Given the description of an element on the screen output the (x, y) to click on. 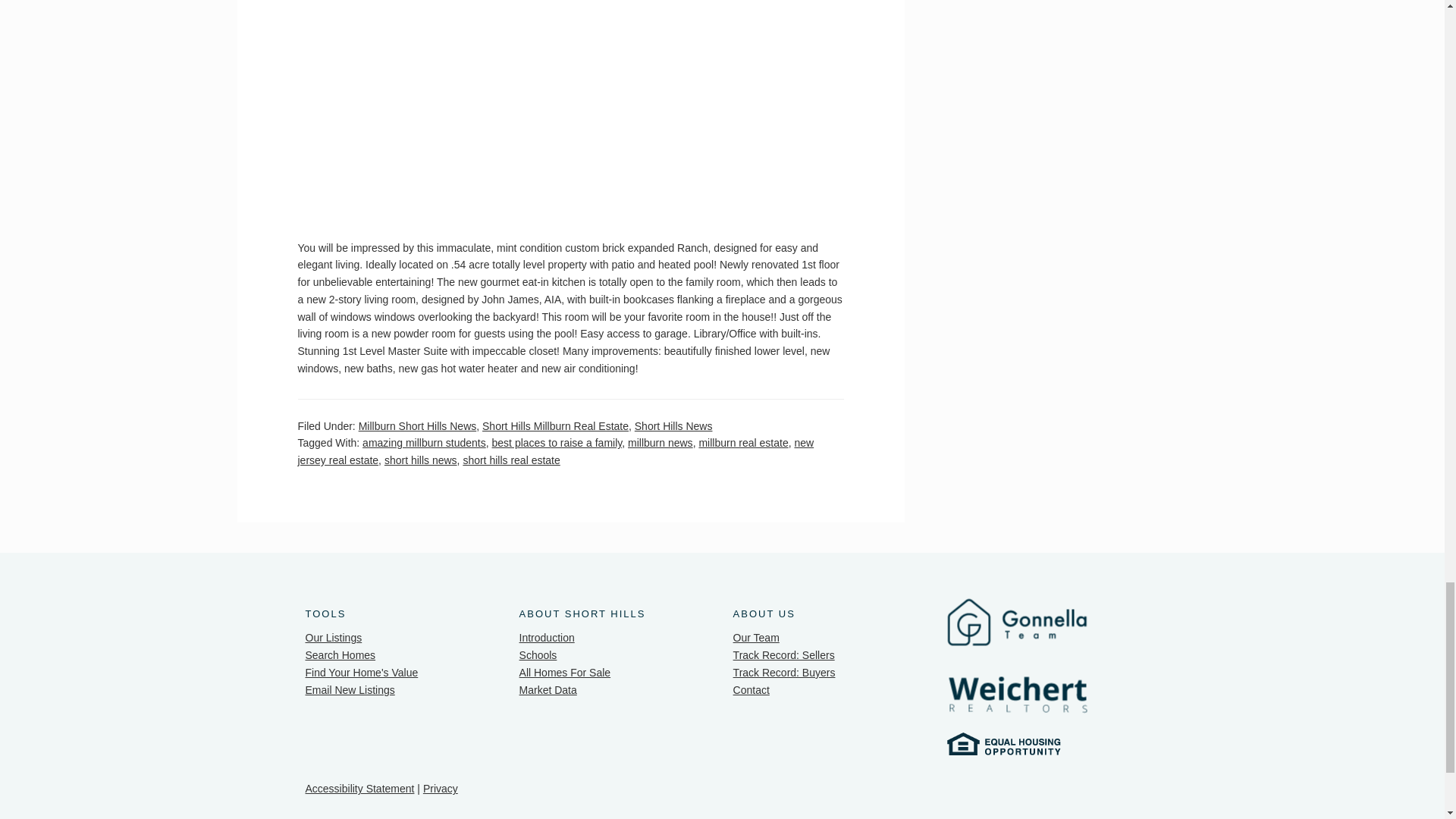
Accessibility Statement (358, 788)
Email New Listings (349, 689)
amazing millburn students (424, 442)
Short Hills News (673, 426)
short hills real estate (511, 460)
All Homes For Sale (565, 672)
short hills news (420, 460)
Schools (538, 654)
Contact (751, 689)
Short Hills Millburn Real Estate (554, 426)
